Given the description of an element on the screen output the (x, y) to click on. 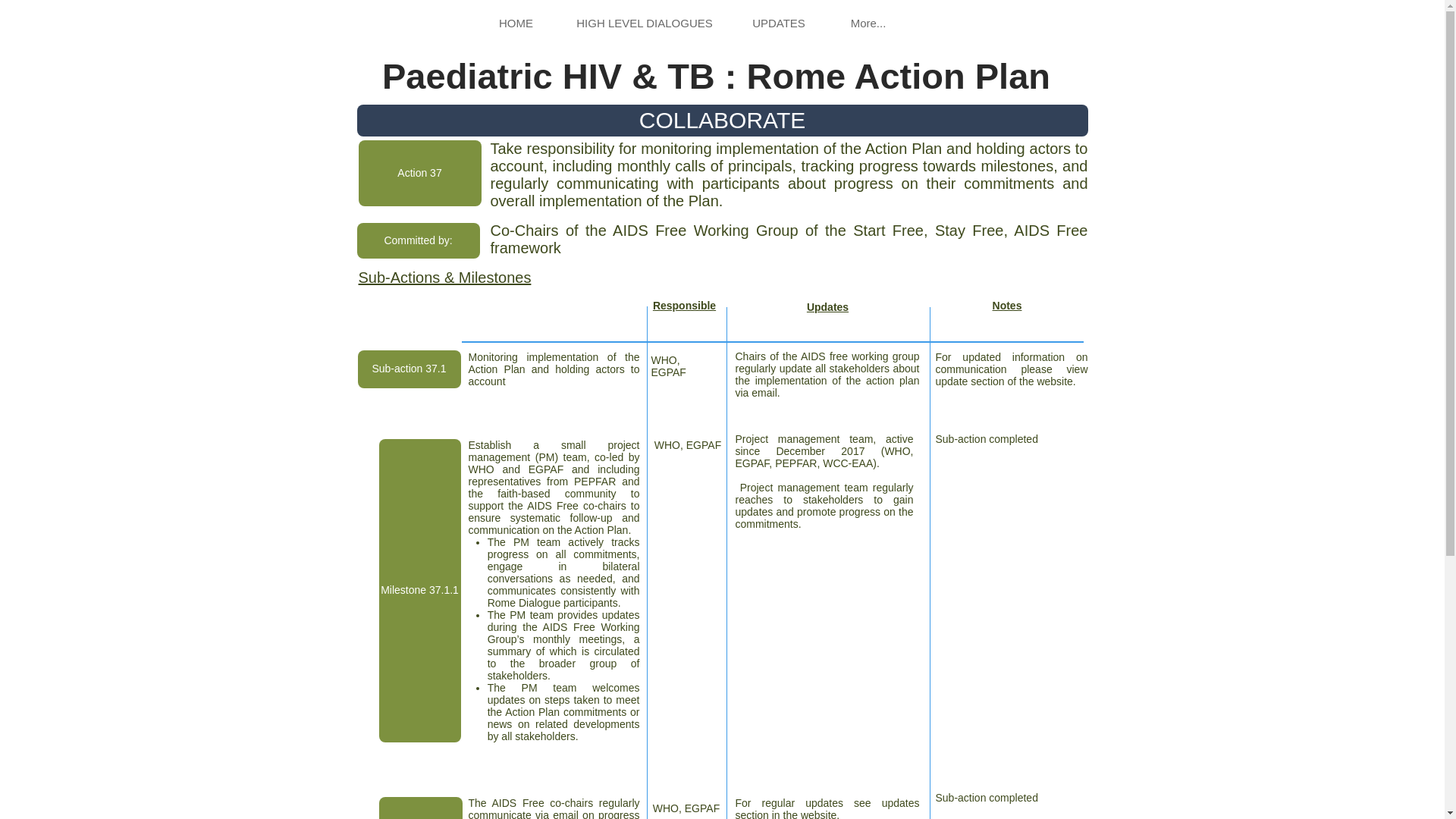
COLLABORATE (721, 120)
HIGH LEVEL DIALOGUES (643, 22)
HOME (515, 22)
UPDATES (777, 22)
